Given the description of an element on the screen output the (x, y) to click on. 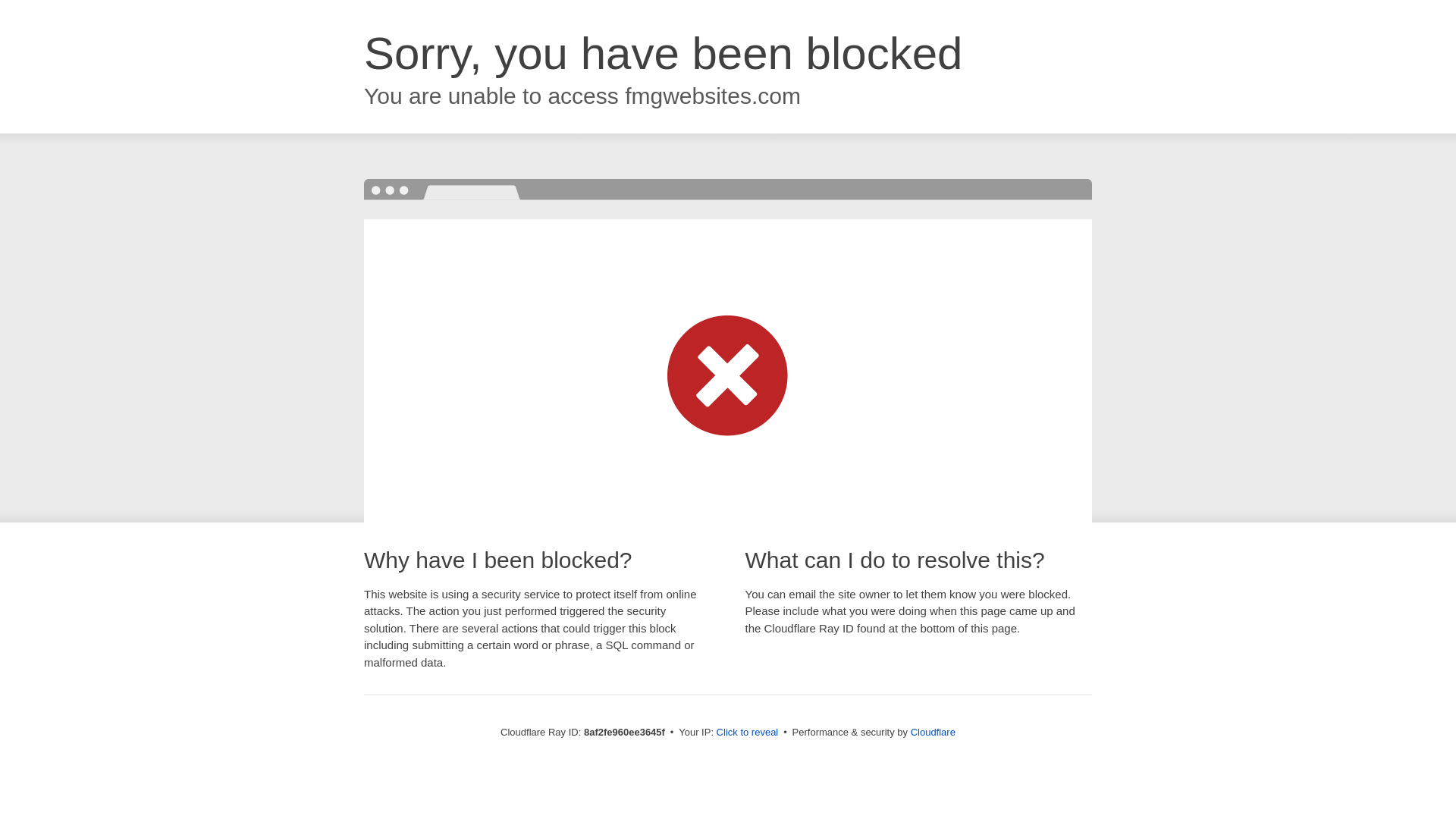
Cloudflare (933, 731)
Click to reveal (747, 732)
